Given the description of an element on the screen output the (x, y) to click on. 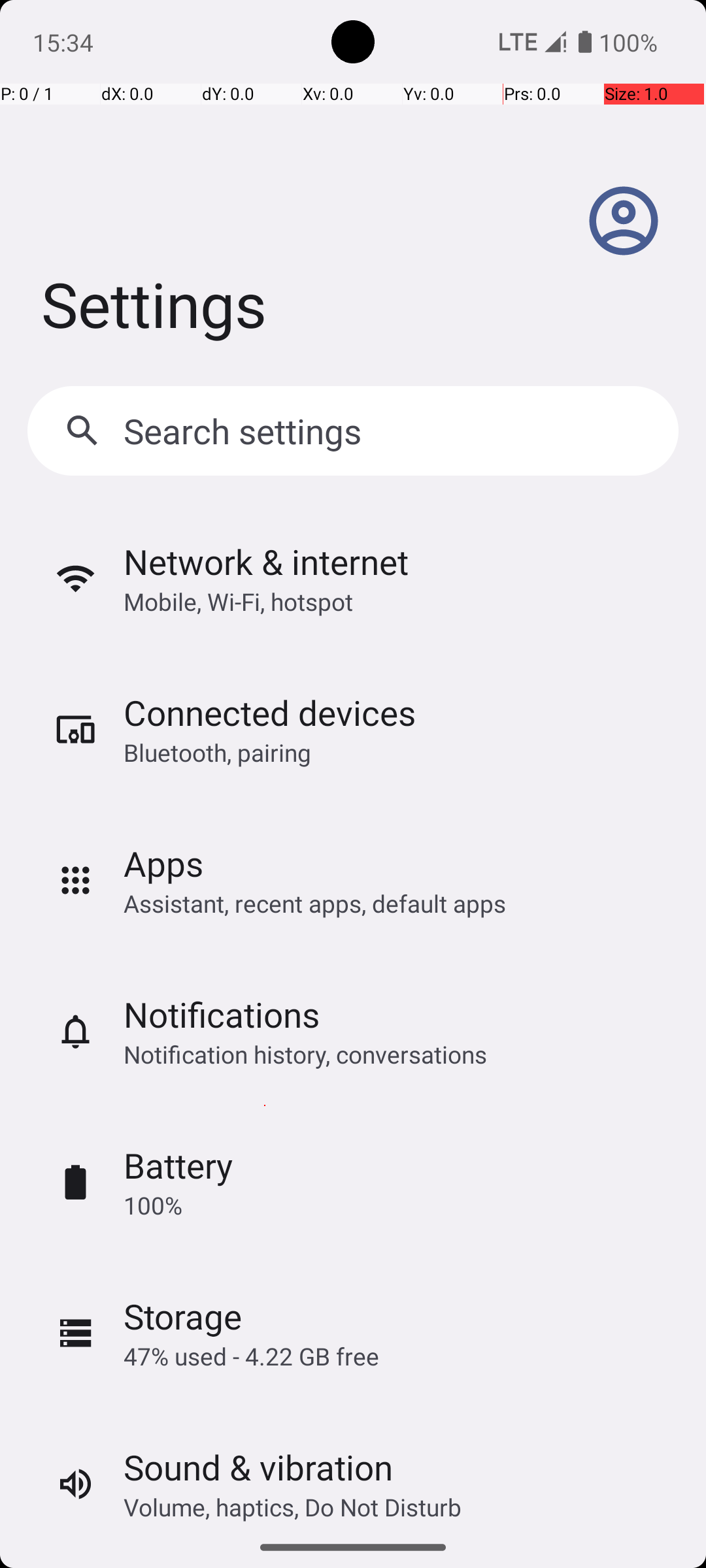
47% used - 4.22 GB free Element type: android.widget.TextView (251, 1355)
